Given the description of an element on the screen output the (x, y) to click on. 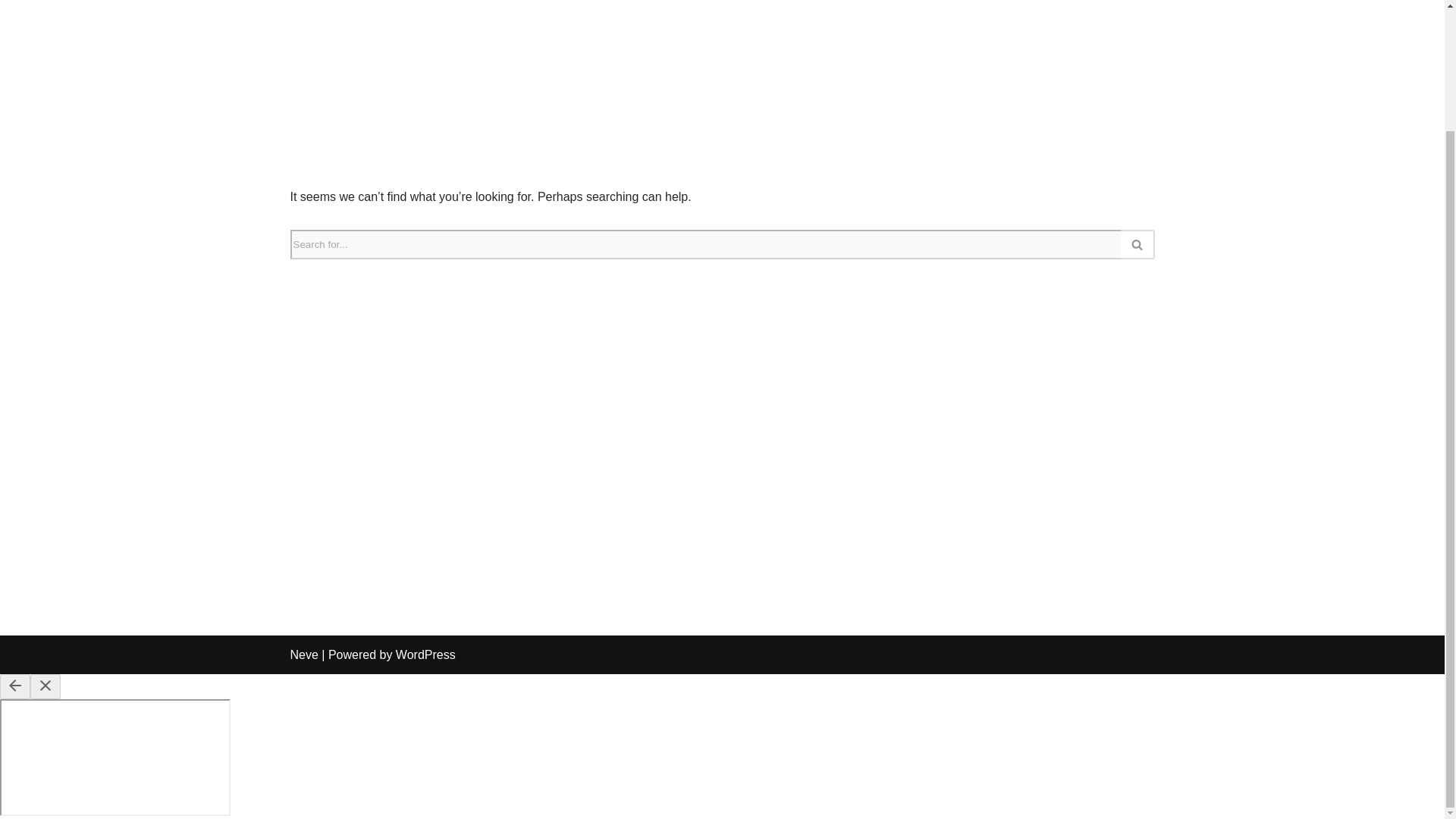
Neve (303, 654)
WordPress (425, 654)
Advertisement (721, 66)
